Given the description of an element on the screen output the (x, y) to click on. 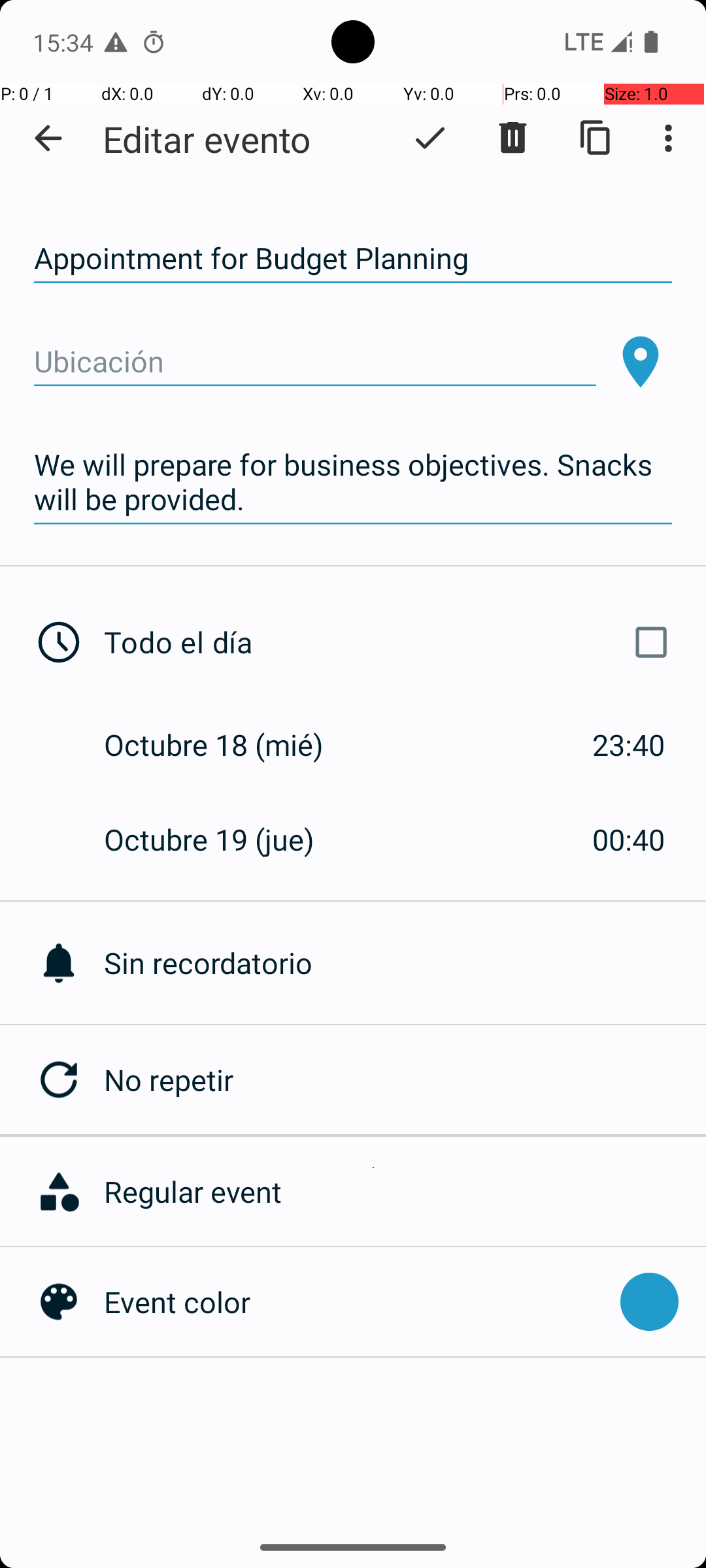
Editar evento Element type: android.widget.TextView (206, 138)
Guardar Element type: android.widget.Button (429, 137)
Eliminar Element type: android.widget.Button (512, 137)
Duplicar un evento Element type: android.widget.Button (595, 137)
Appointment for Budget Planning Element type: android.widget.EditText (352, 258)
Ubicación Element type: android.widget.EditText (314, 361)
We will prepare for business objectives. Snacks will be provided. Element type: android.widget.EditText (352, 482)
Octubre 18 (mié) Element type: android.widget.TextView (227, 744)
23:40 Element type: android.widget.TextView (628, 744)
Octubre 19 (jue) Element type: android.widget.TextView (222, 838)
00:40 Element type: android.widget.TextView (628, 838)
Sin recordatorio Element type: android.widget.TextView (404, 962)
No repetir Element type: android.widget.TextView (404, 1079)
Todo el día Element type: android.widget.CheckBox (390, 642)
